Given the description of an element on the screen output the (x, y) to click on. 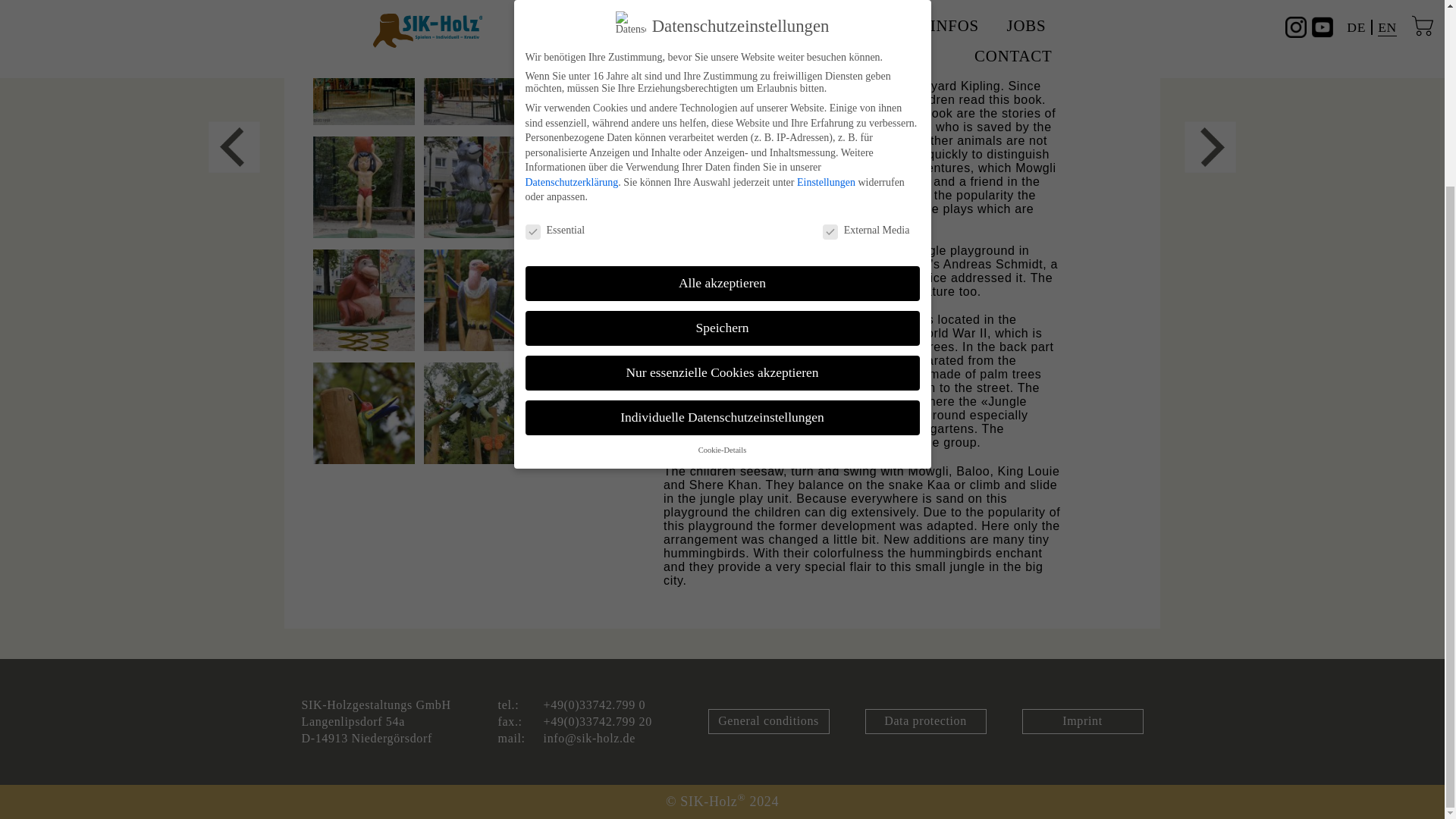
Where geese are there is chatter (1210, 146)
Where geese are there is chatter (234, 146)
